Given the description of an element on the screen output the (x, y) to click on. 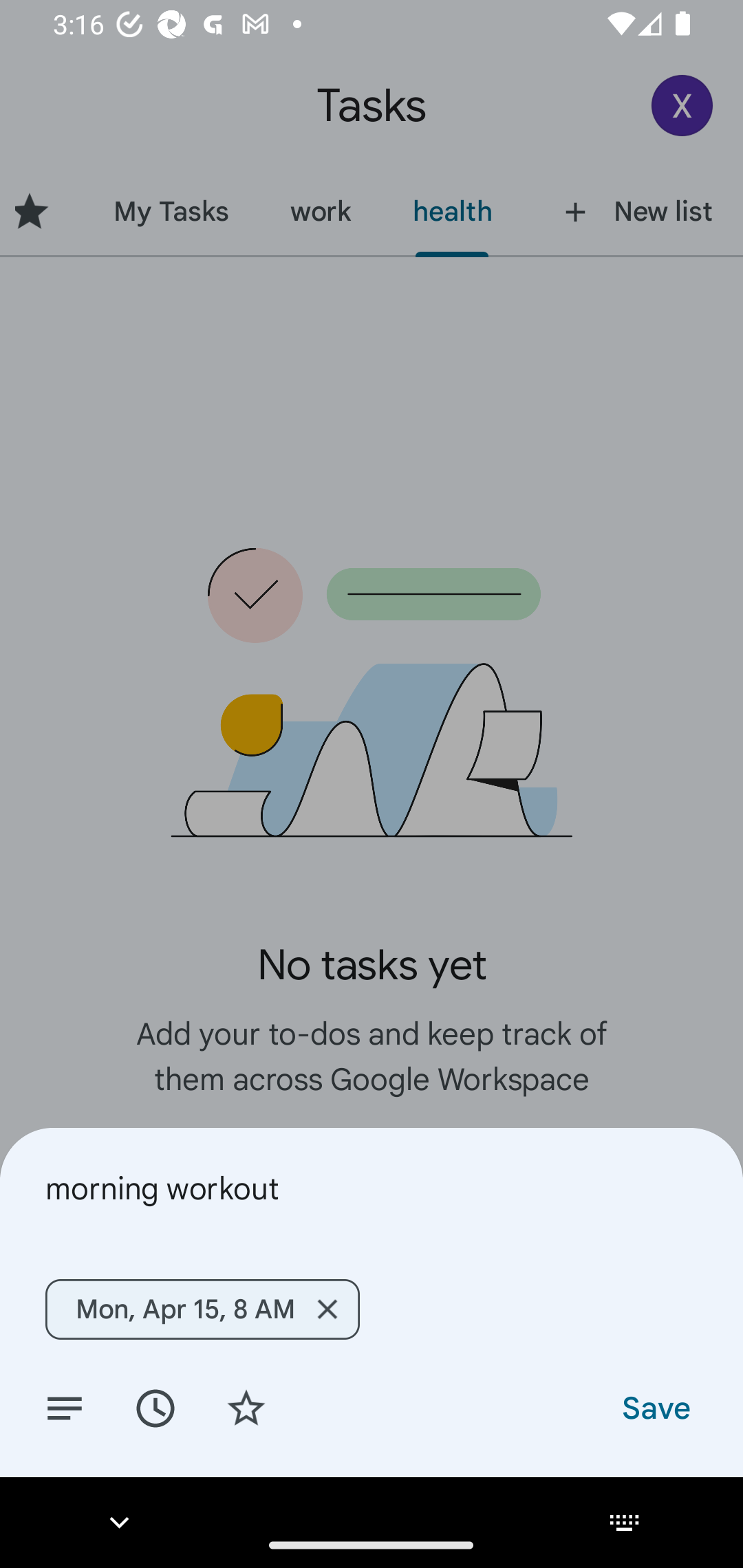
morning workout (371, 1188)
Mon, Apr 15, 8 AM Remove Mon, Apr 15, 8 AM (202, 1308)
Save (655, 1407)
Add details (64, 1407)
Set date/time (154, 1407)
Add star (245, 1407)
